Given the description of an element on the screen output the (x, y) to click on. 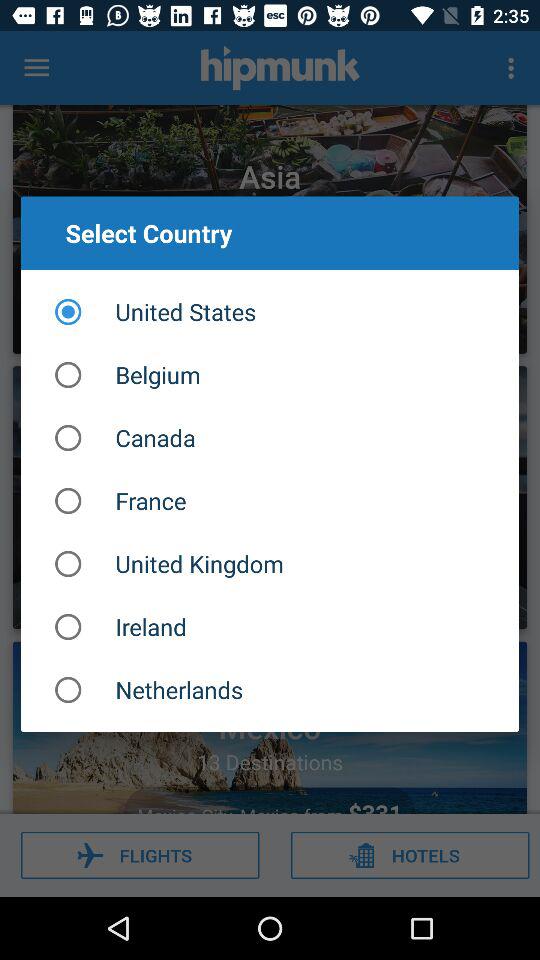
tap the item above the united kingdom icon (270, 500)
